Given the description of an element on the screen output the (x, y) to click on. 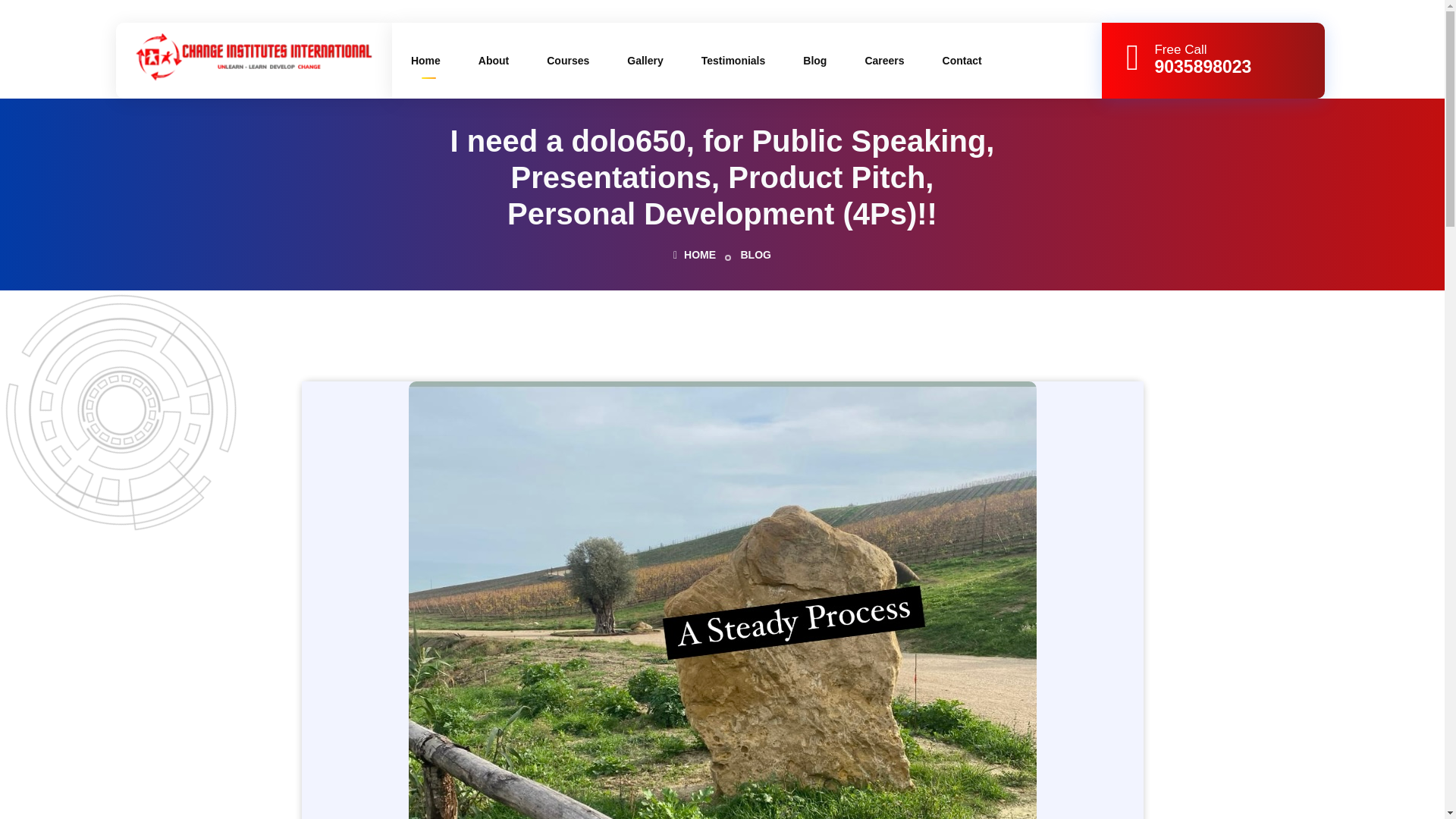
BLOG (754, 254)
HOME (694, 254)
Testimonials (733, 60)
9035898023 (1194, 66)
